Given the description of an element on the screen output the (x, y) to click on. 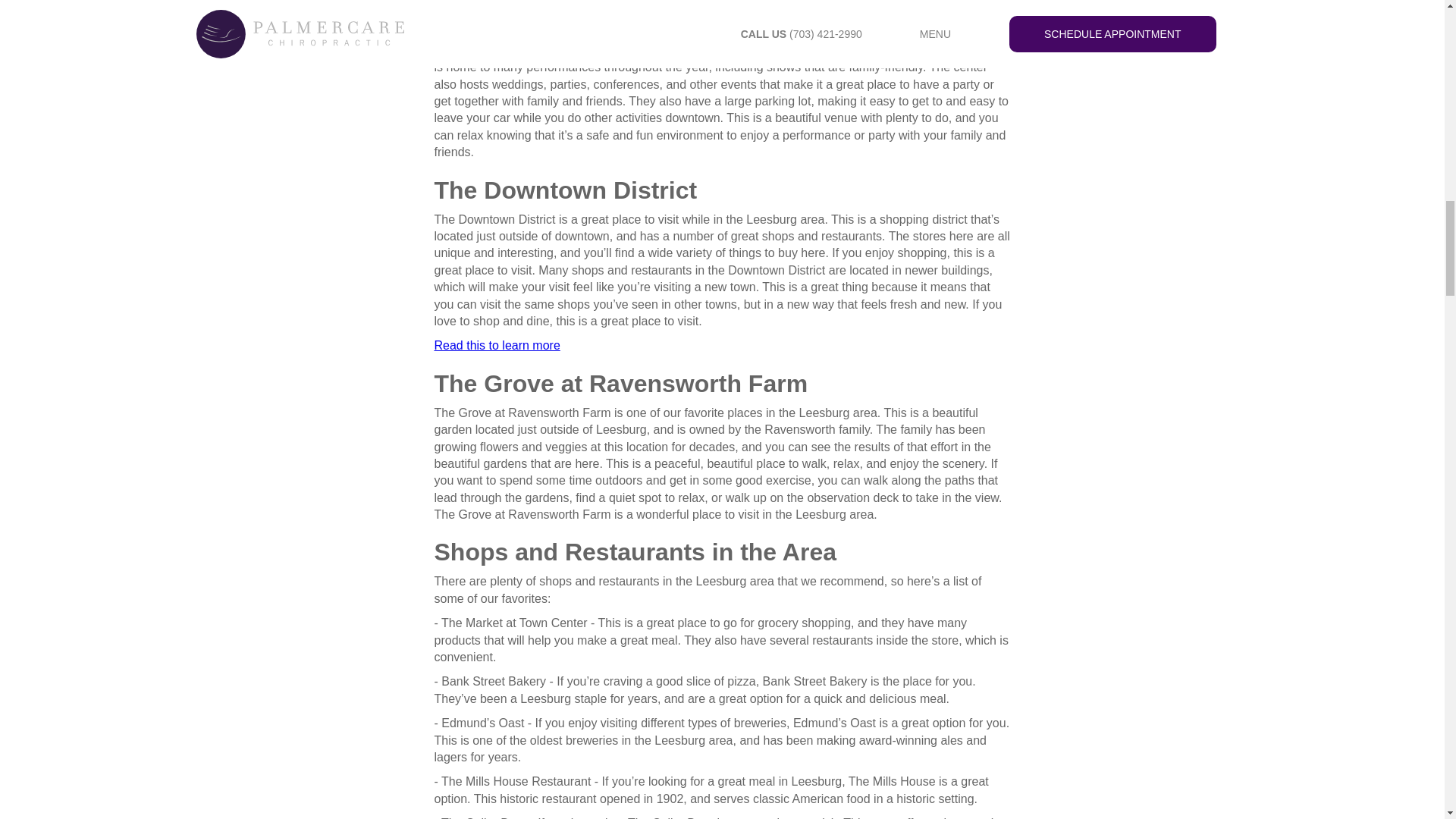
Read this to learn more (496, 345)
